Given the description of an element on the screen output the (x, y) to click on. 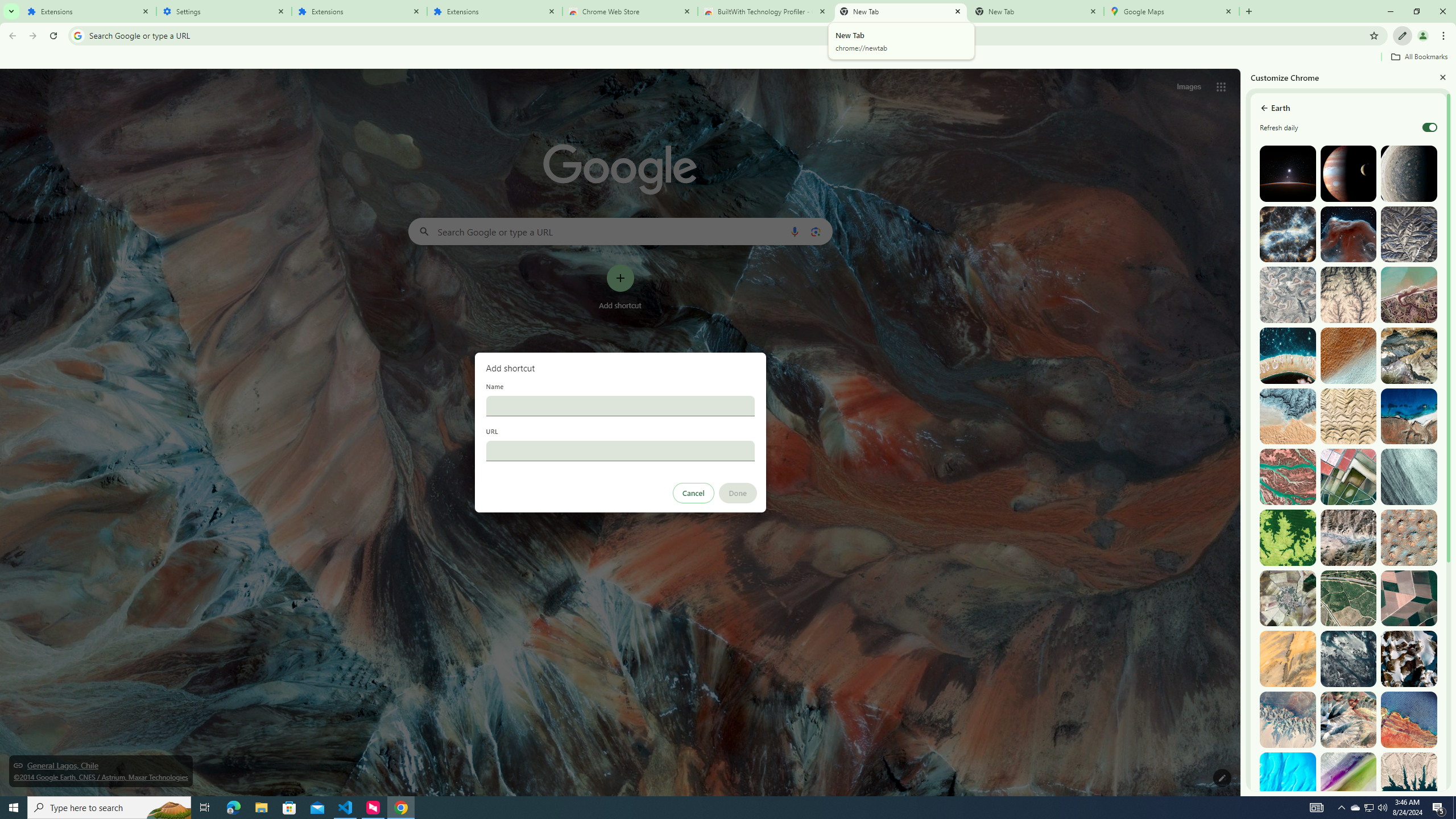
Extensions (359, 11)
Kelan, Shanxi, China (1408, 233)
Done (737, 493)
Atar, Mauritania (1287, 658)
Photo by NASA Image Library (1348, 233)
Cancel (693, 493)
Granville, France (1348, 658)
Dekese, DR Congo (1287, 537)
URL (620, 450)
Hardap, Namibia (1287, 416)
Trarza, Mauritania (1348, 355)
